Given the description of an element on the screen output the (x, y) to click on. 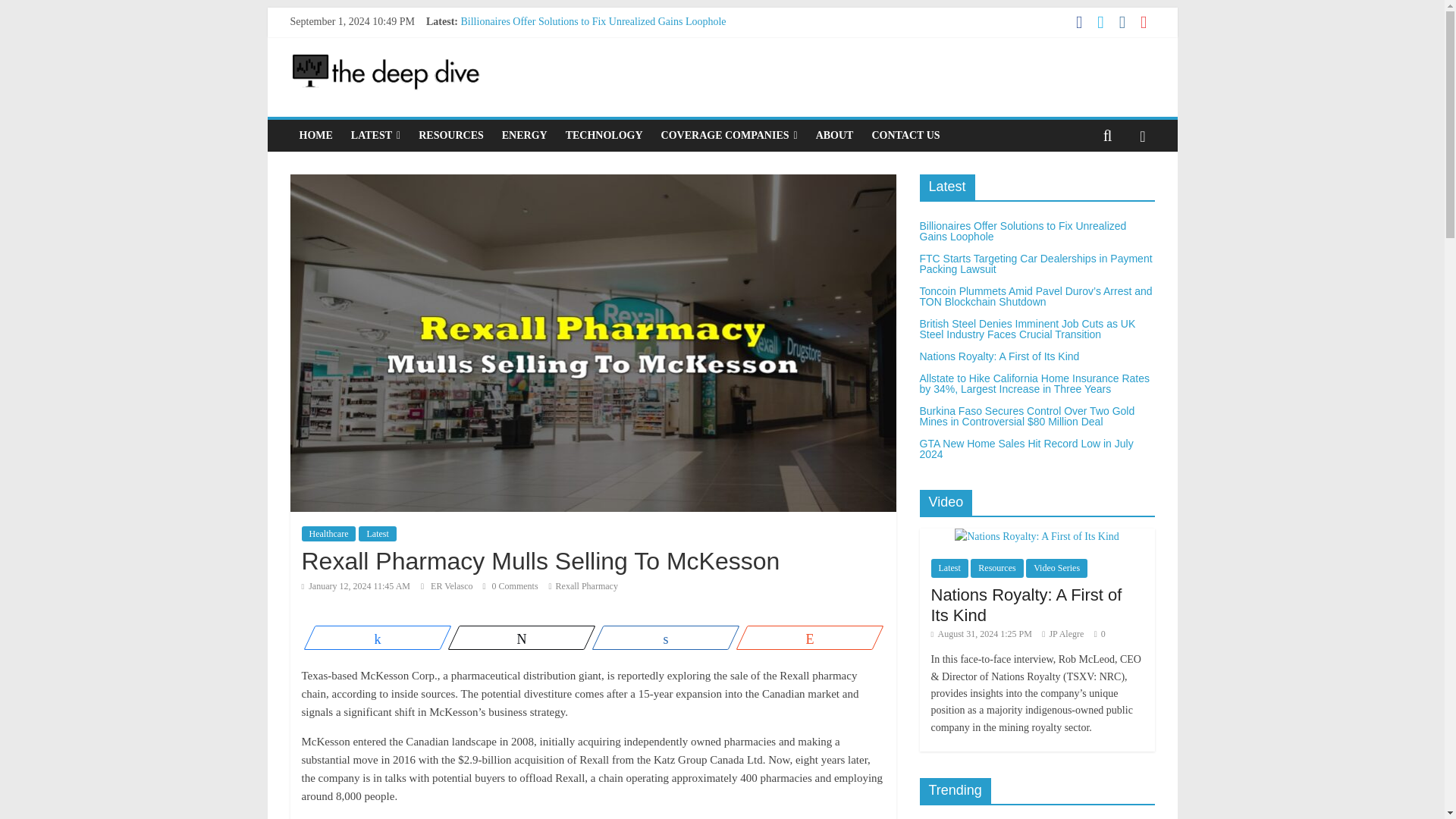
COVERAGE COMPANIES (729, 135)
ER Velasco (452, 585)
Nations Royalty: A First of Its Kind (536, 89)
LATEST (375, 135)
Nations Royalty: A First of Its Kind (1026, 604)
ENERGY (524, 135)
